Given the description of an element on the screen output the (x, y) to click on. 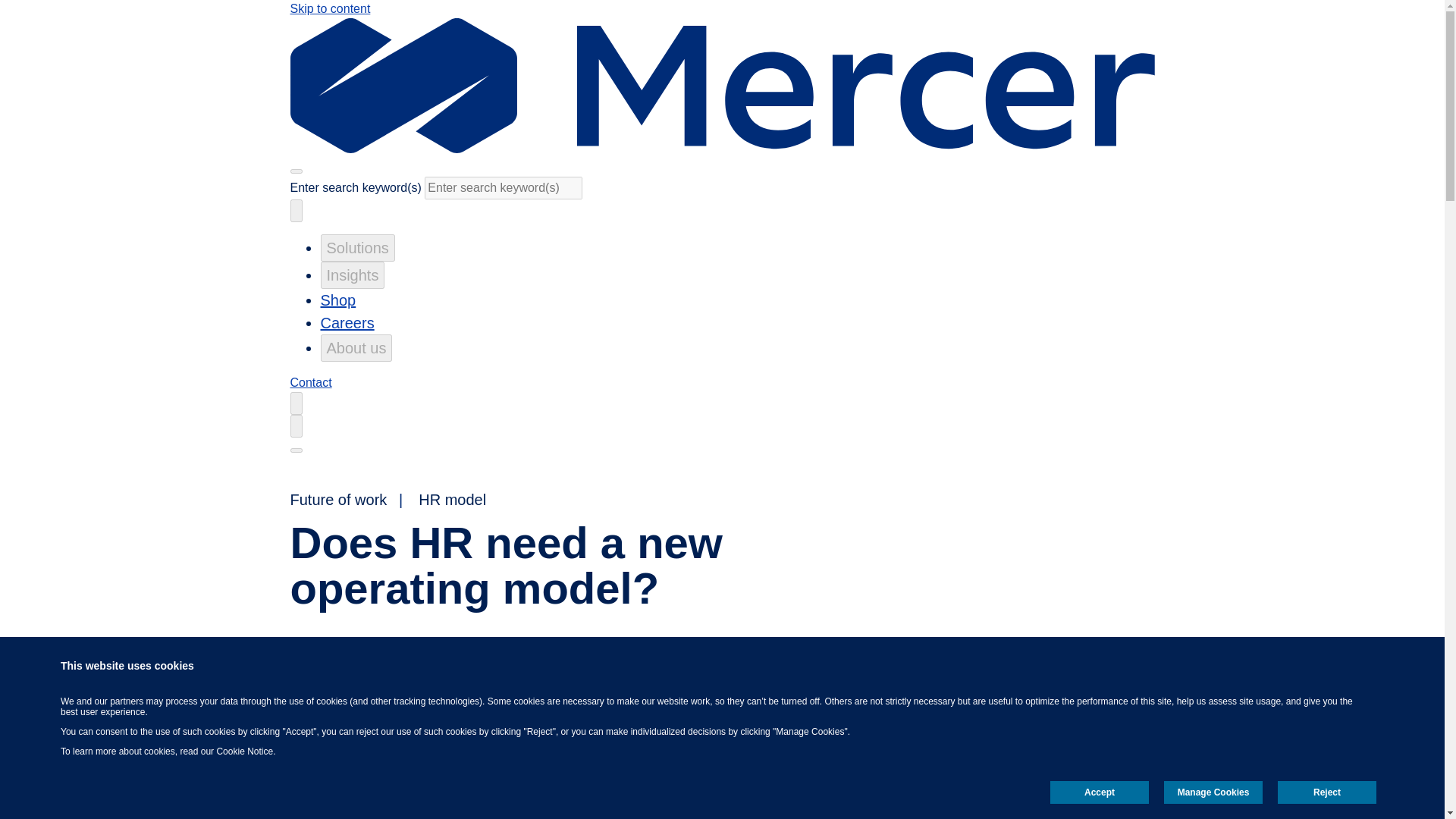
Shop (337, 299)
Share on Facebook (1004, 677)
Solutions (357, 247)
Share on Facebook (1004, 677)
Future of work (338, 499)
Contact (310, 382)
Mercer (721, 148)
Insights (352, 275)
Share on LinkedIn (1097, 677)
Share on LinkedIn (1097, 677)
Share on Twitter (1050, 677)
About us (355, 347)
Skip to content (329, 8)
Careers (347, 322)
Share on Twitter (1050, 677)
